Given the description of an element on the screen output the (x, y) to click on. 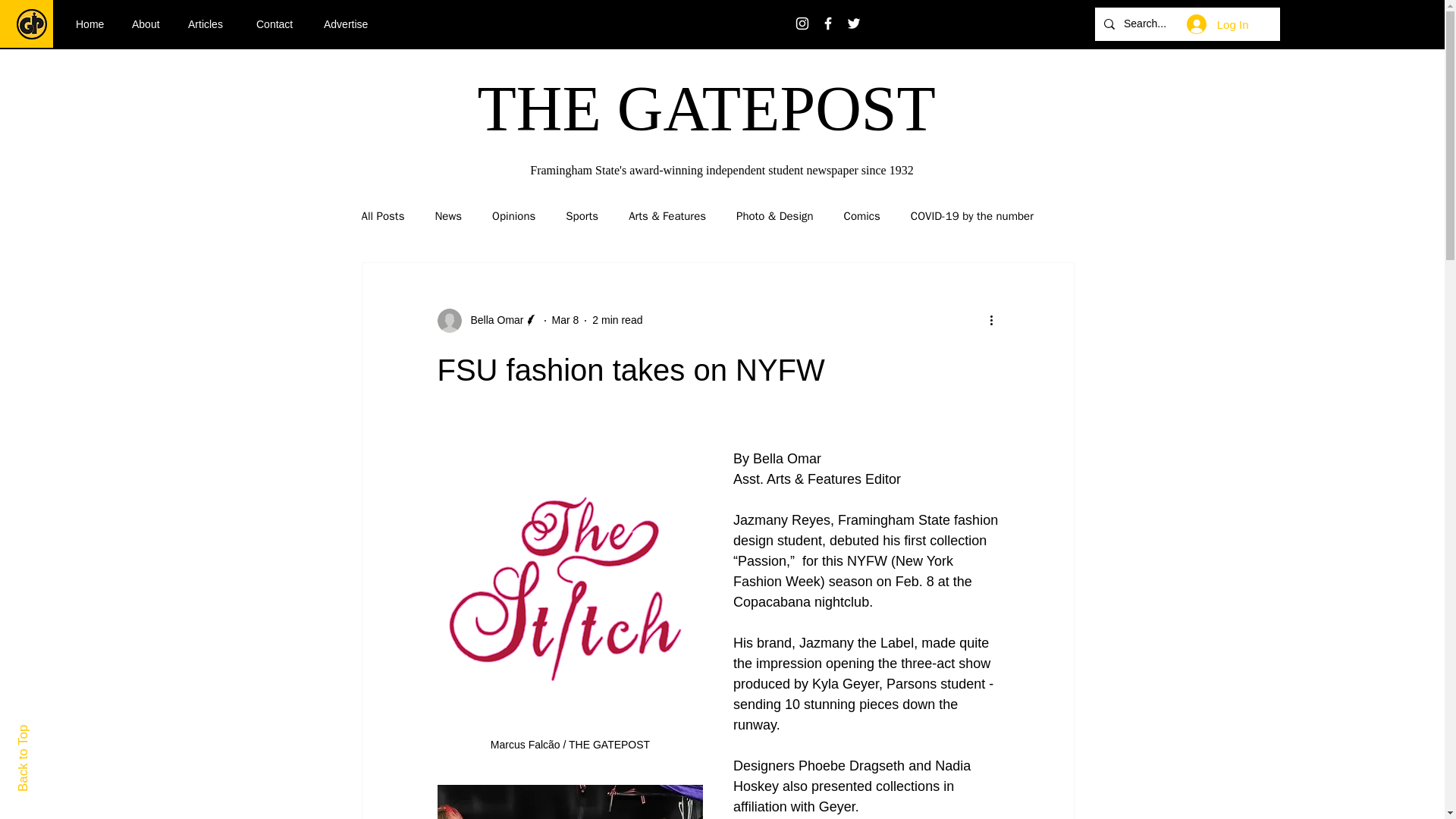
Advertise (351, 24)
Articles (210, 24)
Mar 8 (565, 319)
2 min read (617, 319)
Opinions (513, 216)
Sports (582, 216)
Log In (1217, 23)
About (148, 24)
News (447, 216)
Bella Omar (491, 320)
COVID-19 by the number (972, 216)
Home (92, 24)
Contact (278, 24)
Bella Omar (486, 320)
Comics (862, 216)
